Given the description of an element on the screen output the (x, y) to click on. 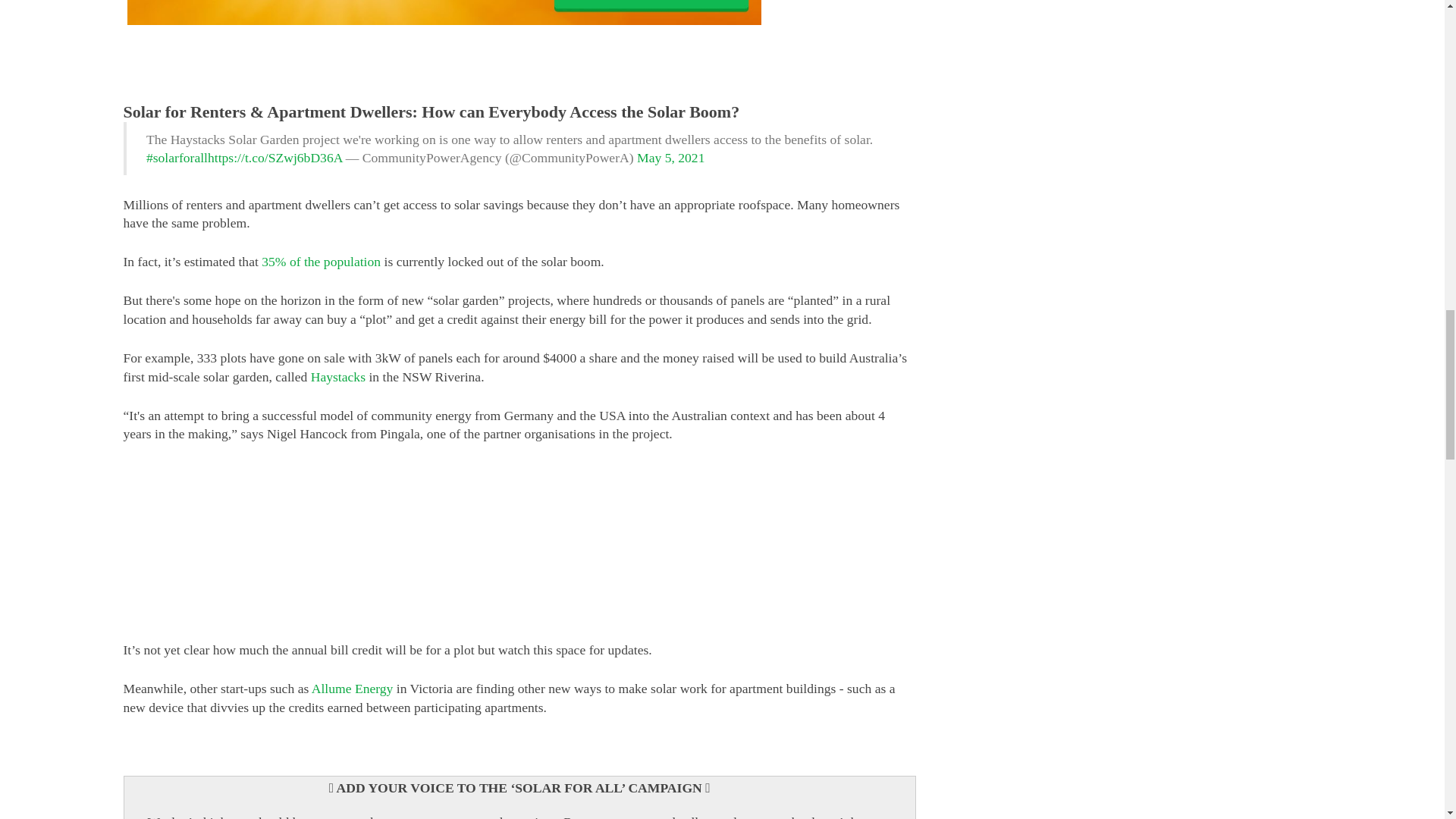
Allume Energy (352, 688)
May 5, 2021 (670, 157)
Haystacks (338, 376)
vimeo-player (518, 558)
